Given the description of an element on the screen output the (x, y) to click on. 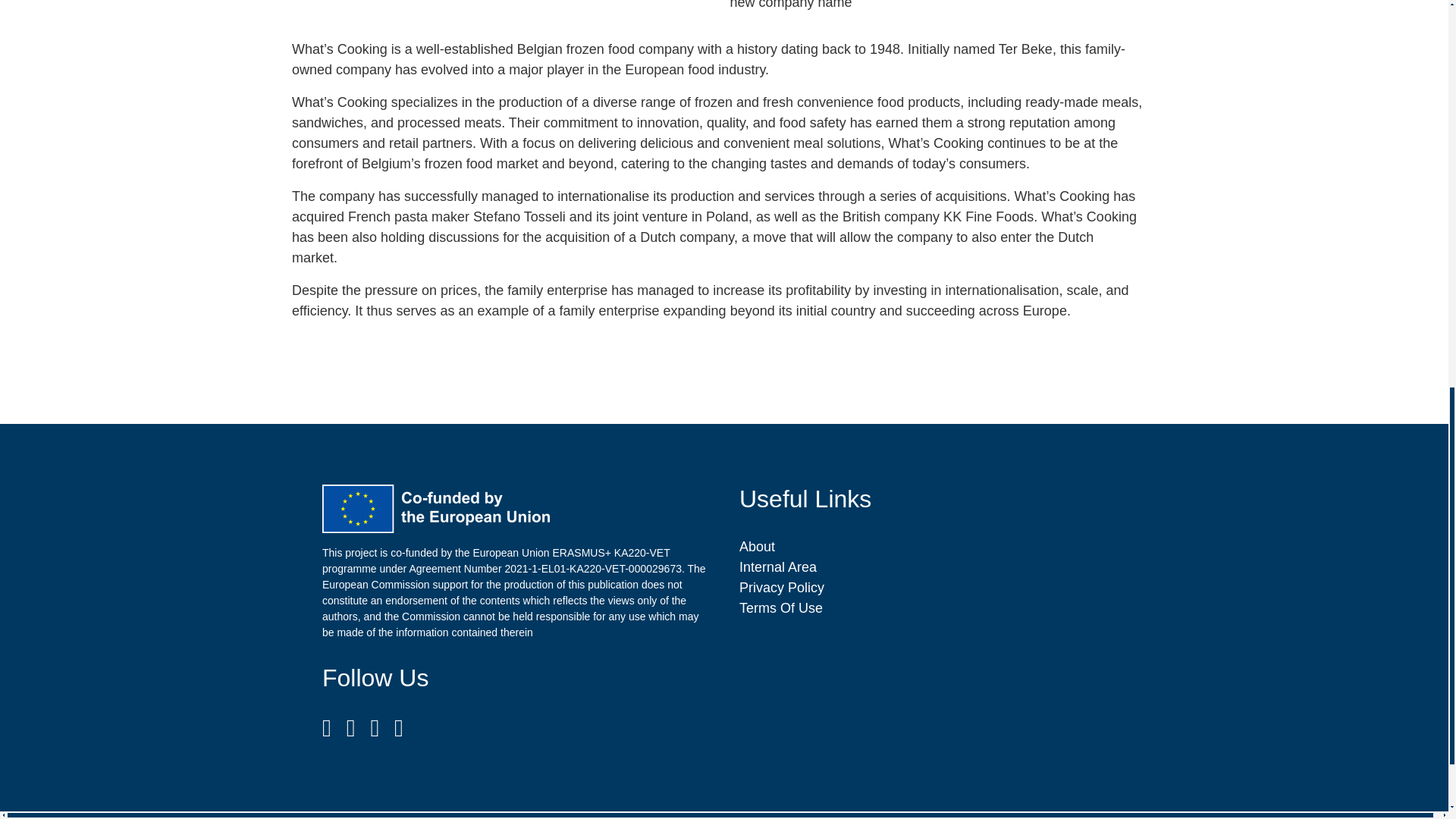
Privacy Policy (781, 587)
Terms Of Use (780, 607)
Internal Area (777, 566)
About (756, 546)
